Given the description of an element on the screen output the (x, y) to click on. 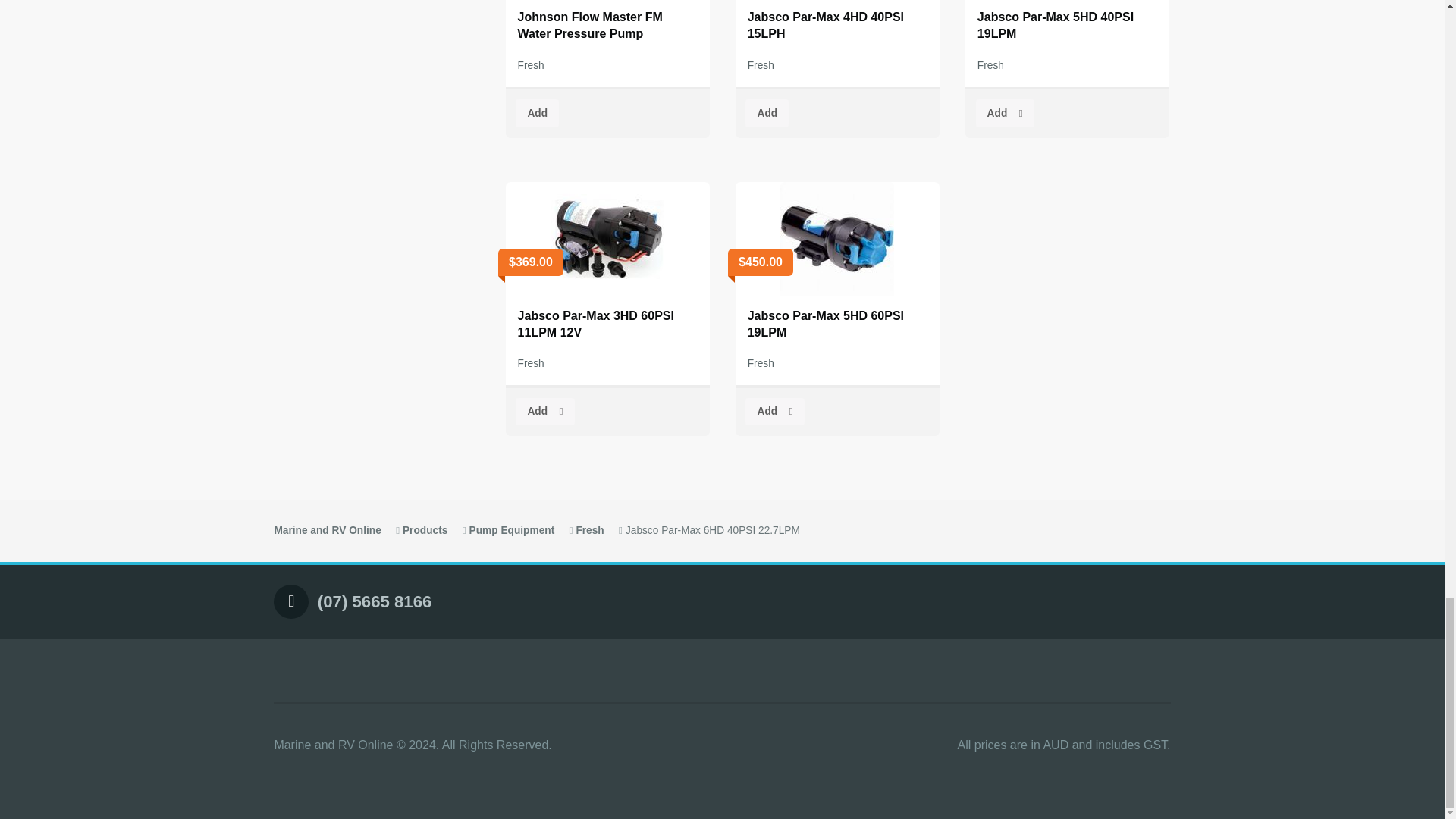
View Fresh (589, 530)
Products (424, 530)
Fresh (531, 65)
View Pump Equipment (511, 530)
Add (537, 113)
Marine and RV Online (326, 530)
